Given the description of an element on the screen output the (x, y) to click on. 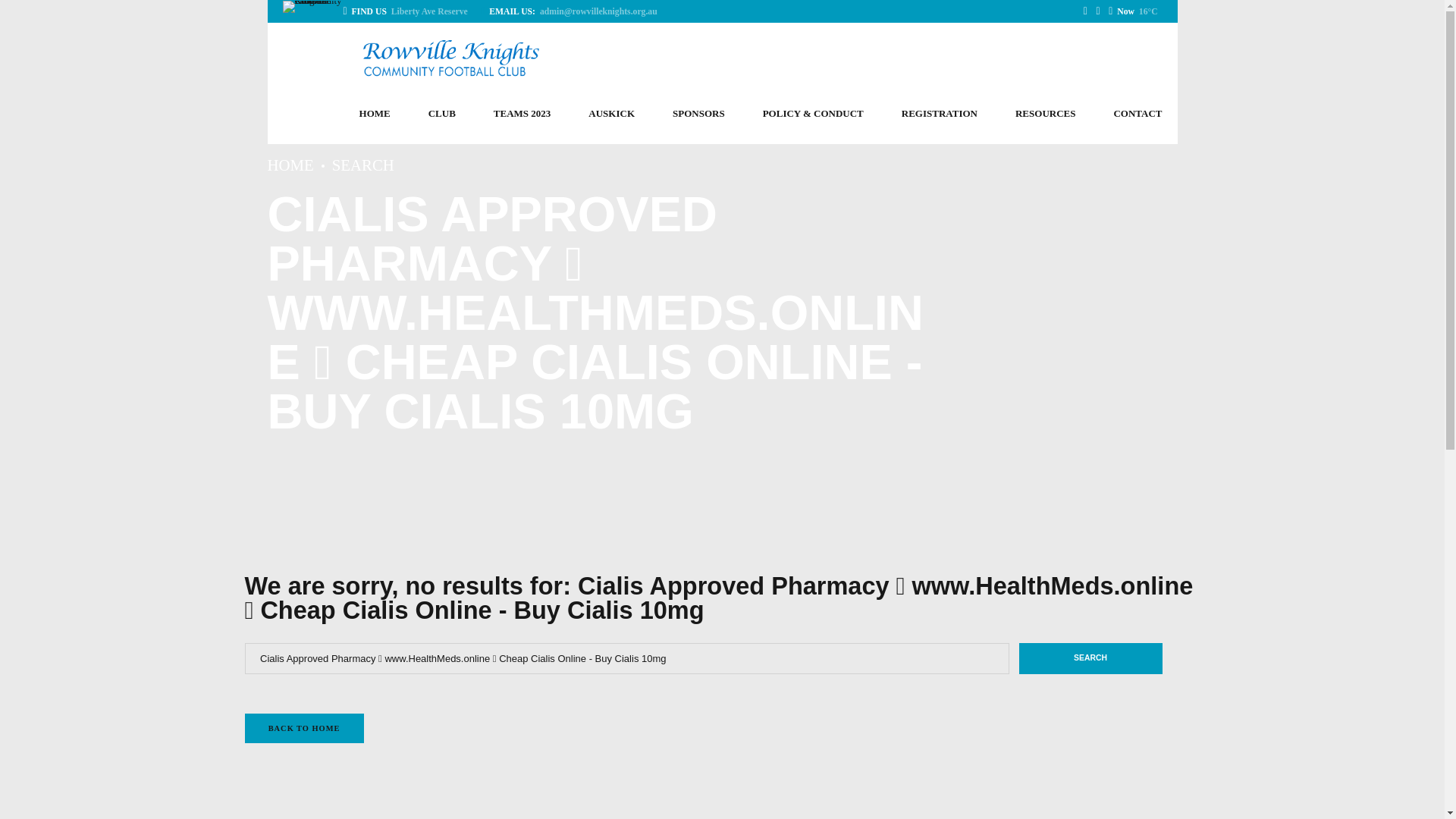
SPONSORS Element type: text (698, 113)
TEAMS 2023 Element type: text (521, 113)
REGISTRATION Element type: text (939, 113)
CLUB Element type: text (441, 113)
HOME Element type: text (289, 164)
Search Element type: text (1090, 658)
RESOURCES Element type: text (1045, 113)
AUSKICK Element type: text (611, 113)
HOME Element type: text (374, 113)
EMAIL US:admin@rowvilleknights.org.au Element type: text (570, 11)
CONTACT Element type: text (1137, 113)
POLICY & CONDUCT Element type: text (812, 113)
BACK TO HOME Element type: text (303, 727)
